Given the description of an element on the screen output the (x, y) to click on. 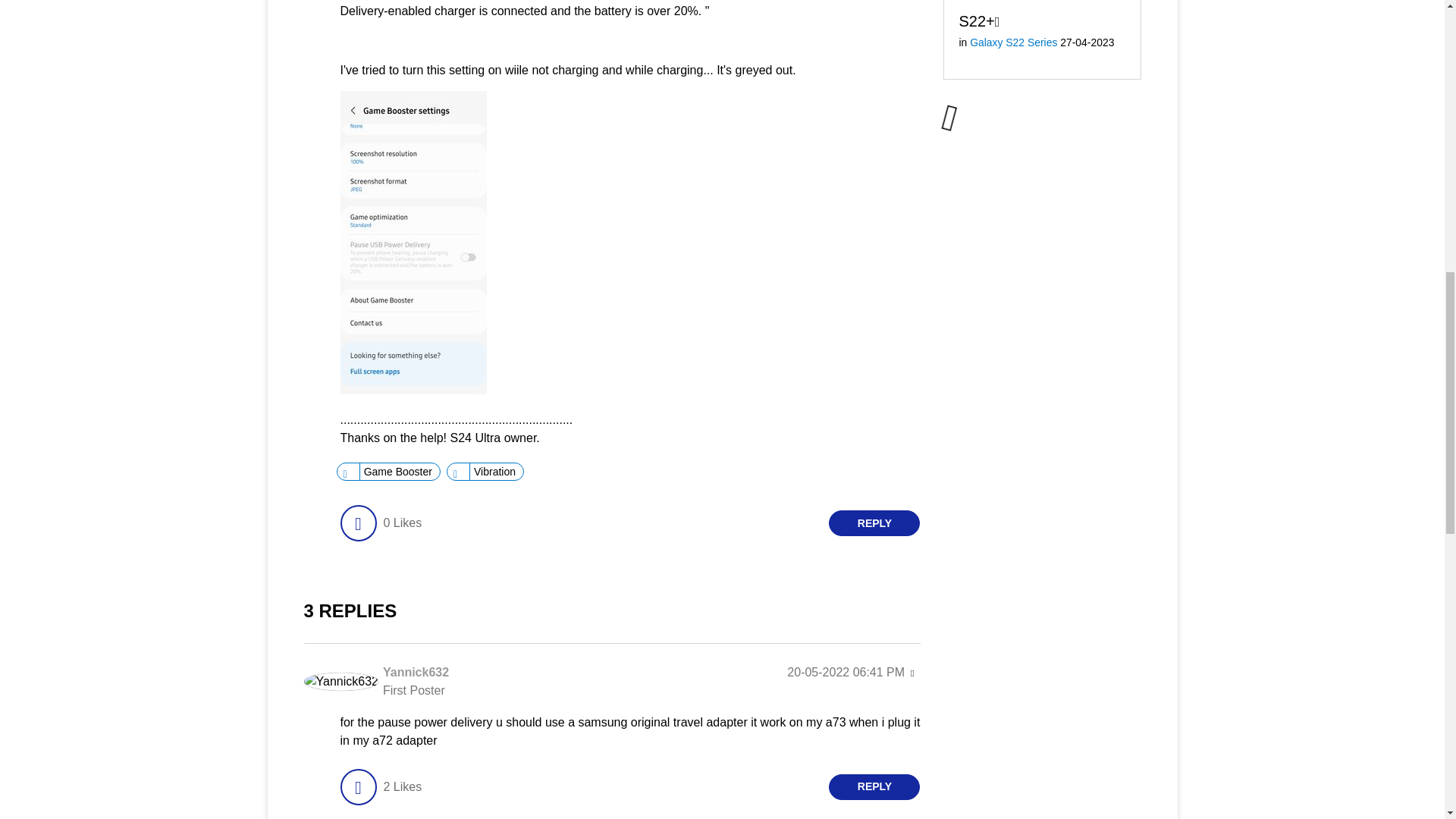
REPLY (874, 523)
Game Booster (397, 471)
Vibration (493, 471)
The total number of likes this post has received. (401, 523)
